Given the description of an element on the screen output the (x, y) to click on. 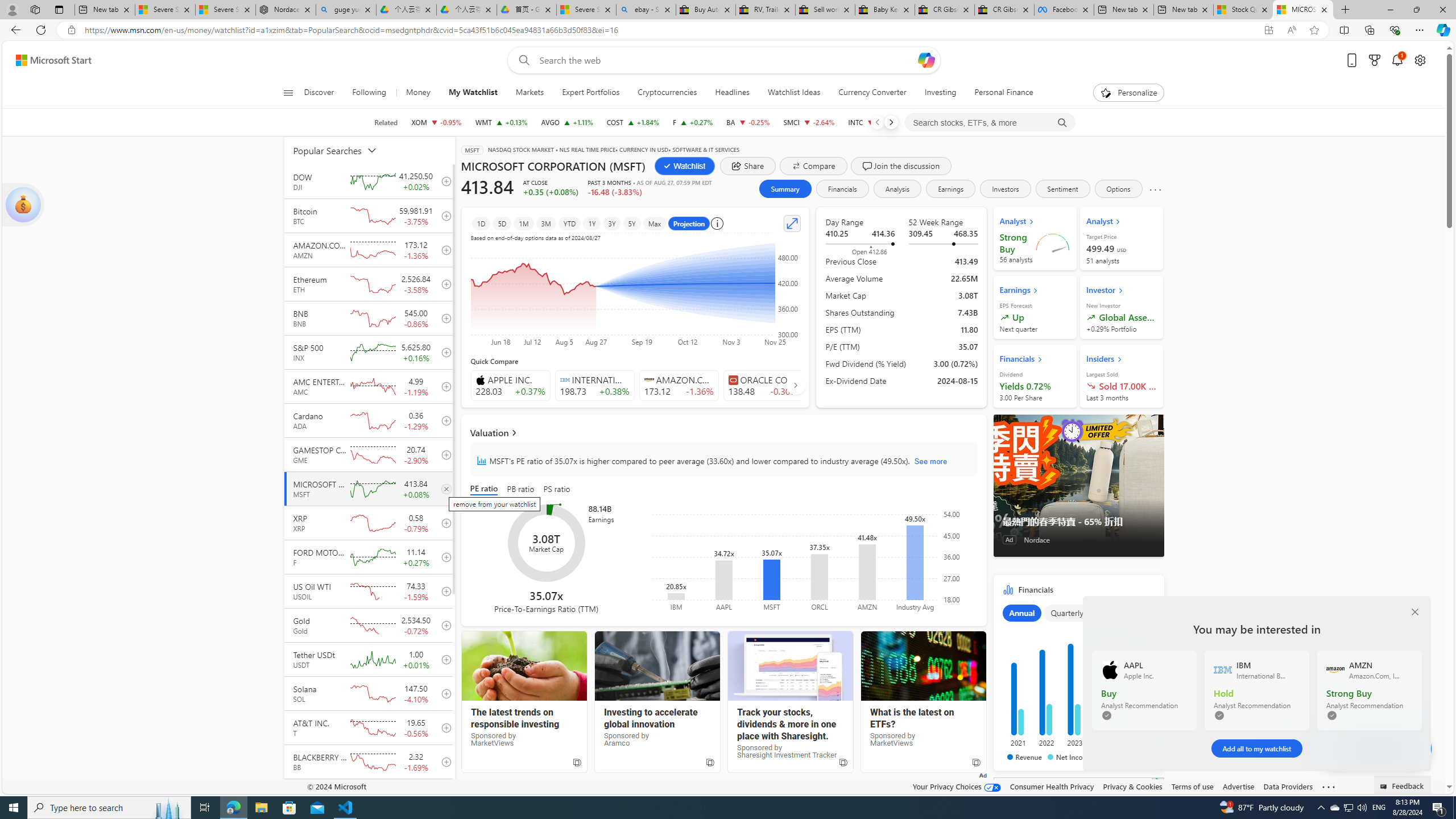
Buy Auto Parts & Accessories | eBay (706, 9)
add to your watchlist (442, 795)
YTD (568, 223)
Previous (876, 122)
My Watchlist (472, 92)
Class: chartOuter-DS-EntryPoint1-1 (1075, 682)
Financials (842, 188)
PE ratio (486, 489)
Skip to content (49, 59)
